Given the description of an element on the screen output the (x, y) to click on. 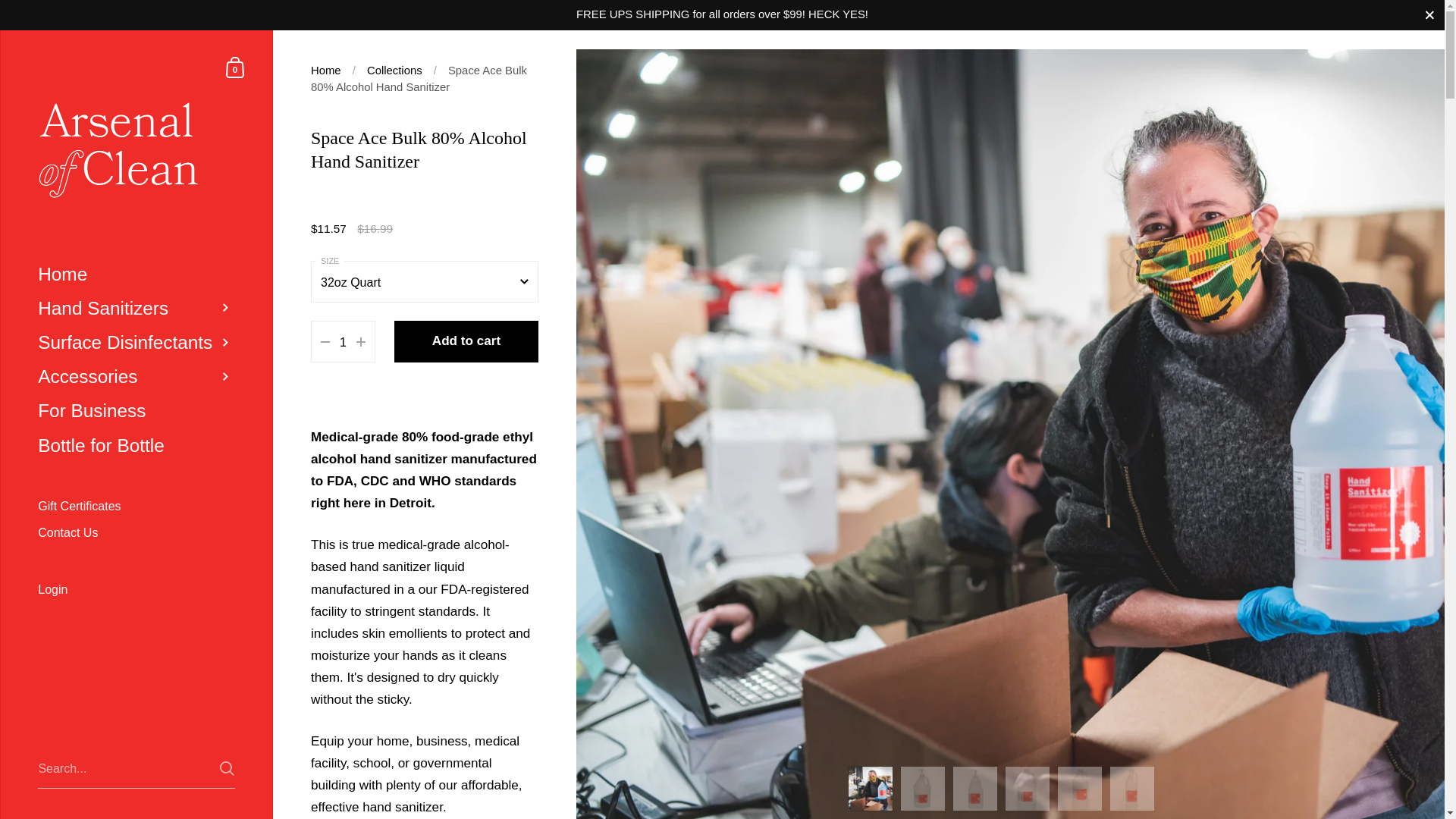
Add to cart (466, 341)
Home (136, 273)
Home (325, 70)
Surface Disinfectants (136, 342)
Gift Certificates (136, 506)
Shopping Cart (235, 66)
Collections (394, 70)
Contact Us (136, 532)
Accessories (136, 376)
Login (136, 590)
